Given the description of an element on the screen output the (x, y) to click on. 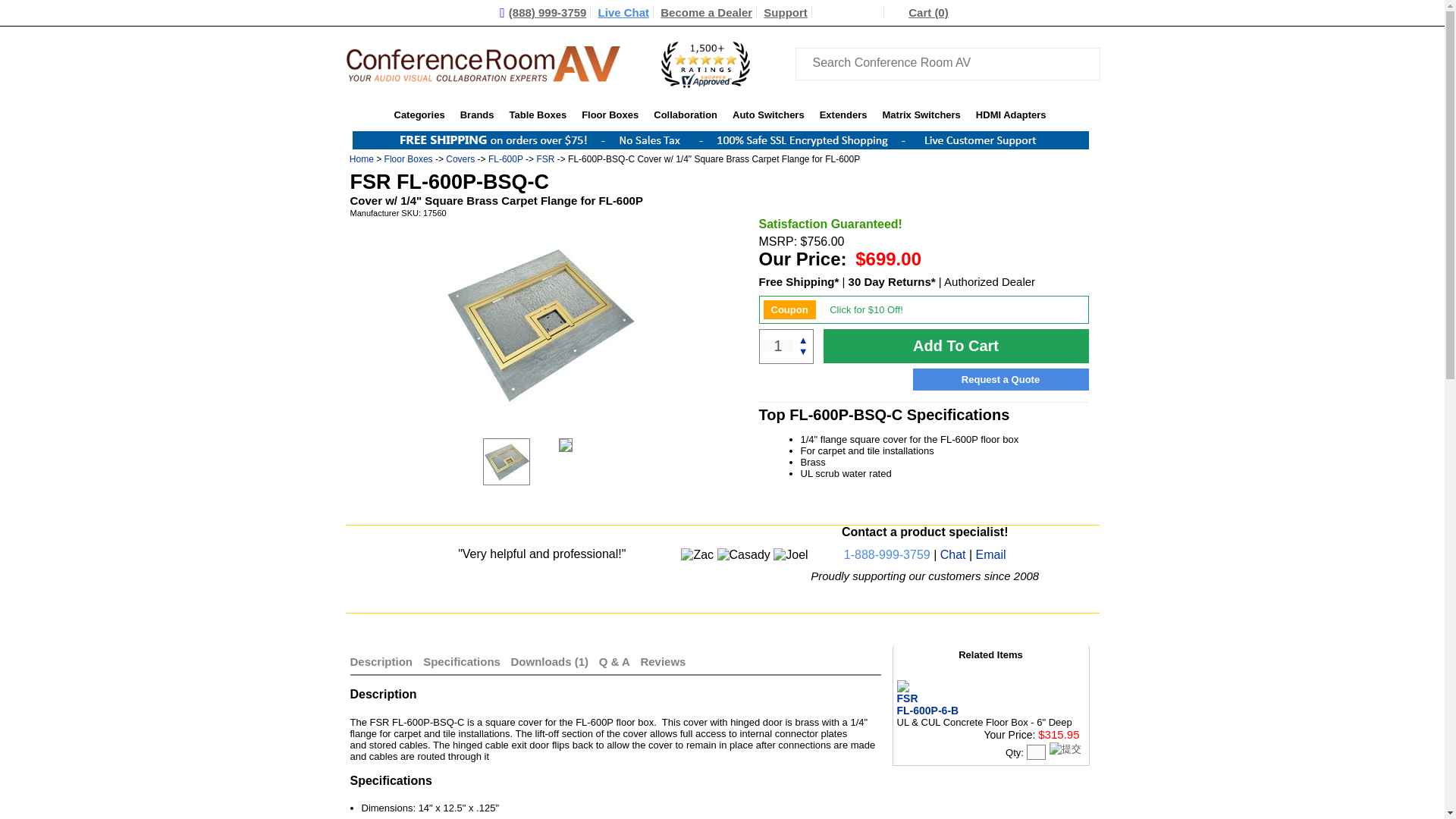
FSR FL-600P-BSQ-C (505, 460)
Reviews (662, 661)
Matrix Switchers (921, 114)
FSR FL-600P-BSQ-C (539, 324)
Support (786, 11)
1-888-999-3759 (887, 554)
Home (361, 158)
Add To Cart (956, 346)
Collaboration (685, 114)
Floor Boxes (609, 114)
